Given the description of an element on the screen output the (x, y) to click on. 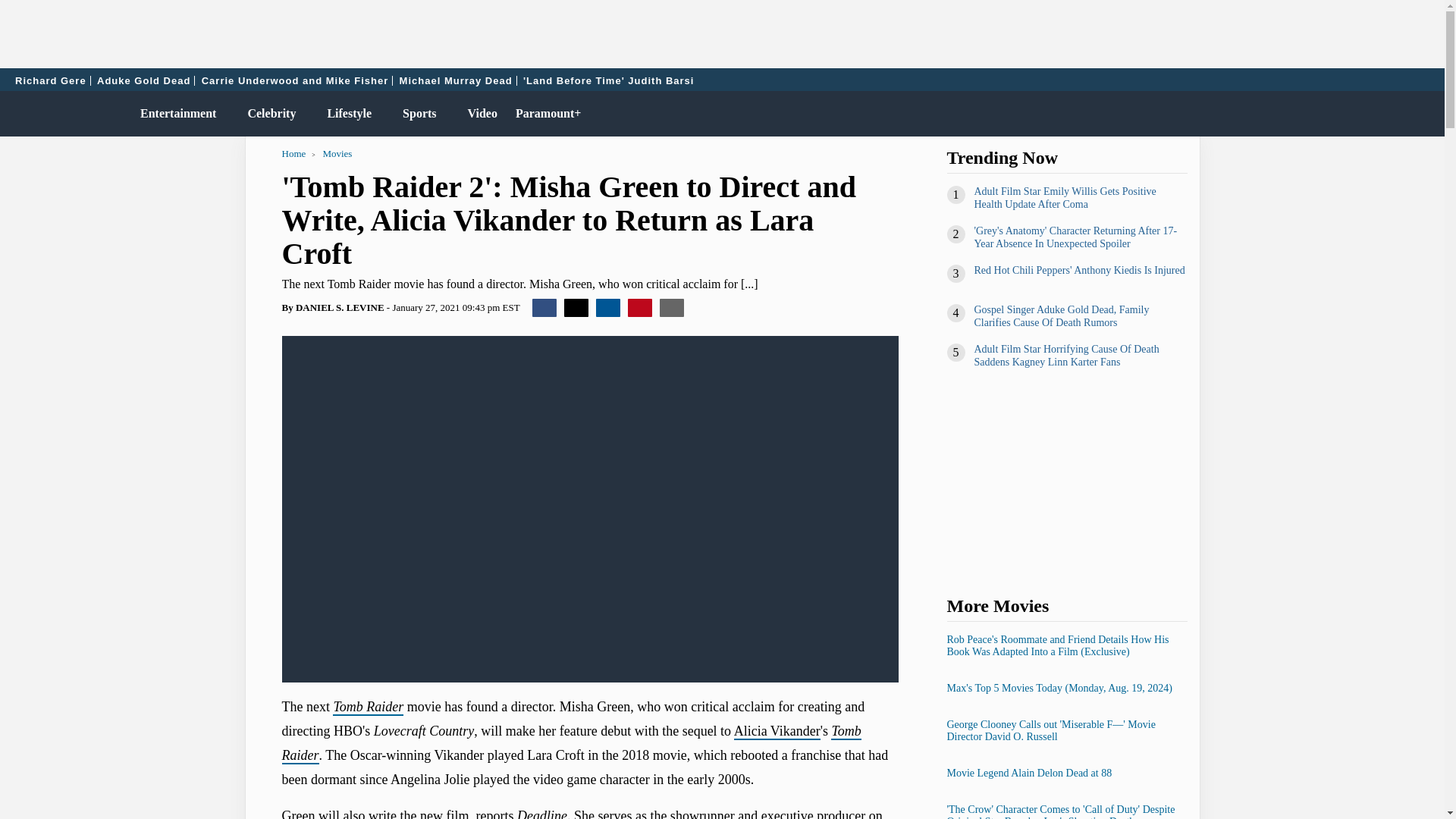
Entertainment (175, 113)
Lifestyle (345, 113)
Carrie Underwood and Mike Fisher (295, 80)
'Land Before Time' Judith Barsi (608, 80)
Sports (416, 113)
Video (479, 113)
Celebrity (267, 113)
Richard Gere (50, 80)
Search (1426, 114)
Michael Murray Dead (456, 80)
